Given the description of an element on the screen output the (x, y) to click on. 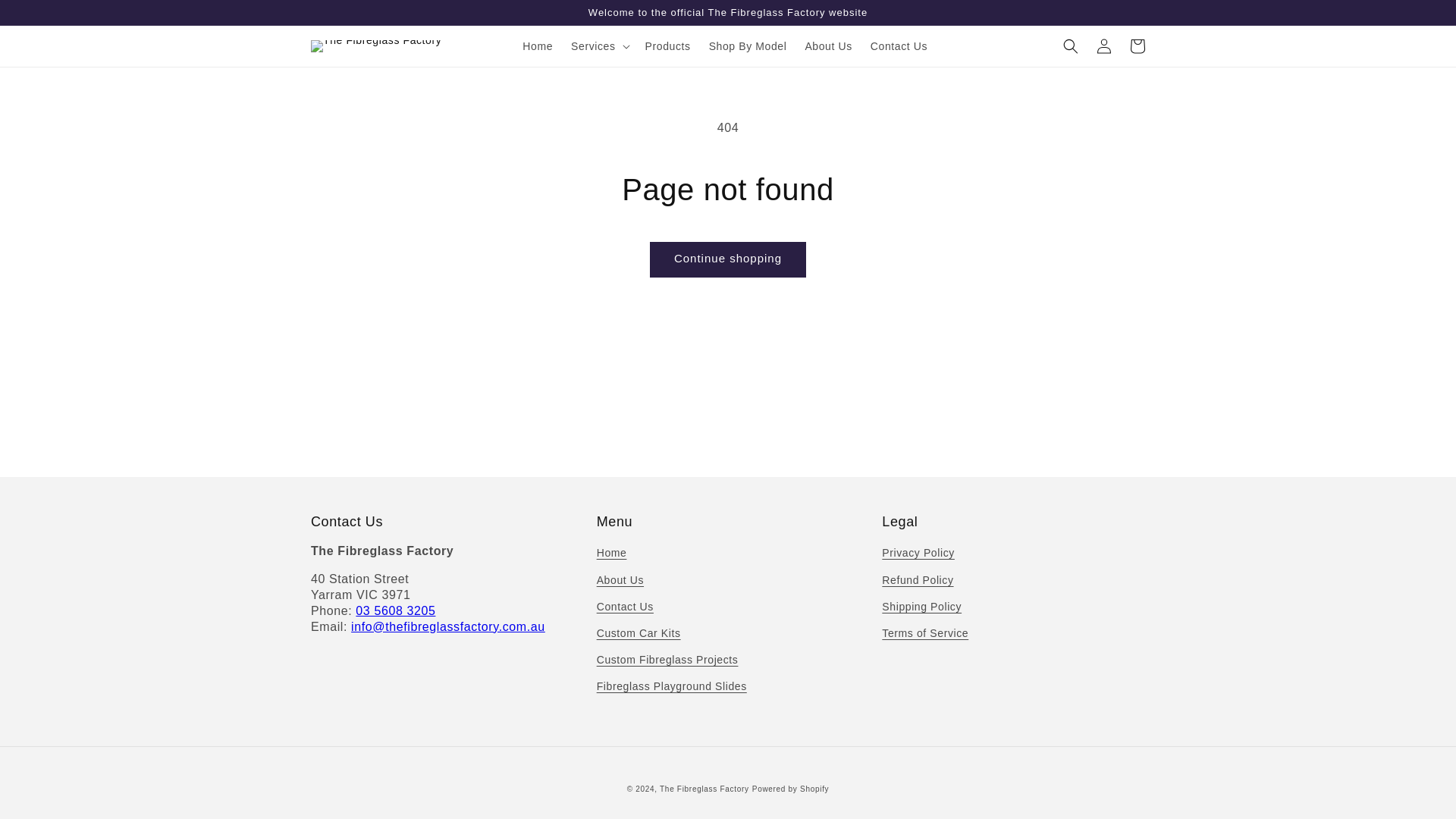
Cart (1137, 46)
About Us (827, 46)
Fibreglass Playground Slides (671, 686)
Contact Us (898, 46)
Contact Us (624, 606)
03 5608 3205 (395, 610)
Home (537, 46)
Log in (1104, 46)
tel:0356083205 (395, 610)
Shop By Model (748, 46)
Custom Fibreglass Projects (667, 660)
Continue shopping (727, 259)
About Us (619, 580)
Custom Car Kits (638, 633)
Home (611, 554)
